Given the description of an element on the screen output the (x, y) to click on. 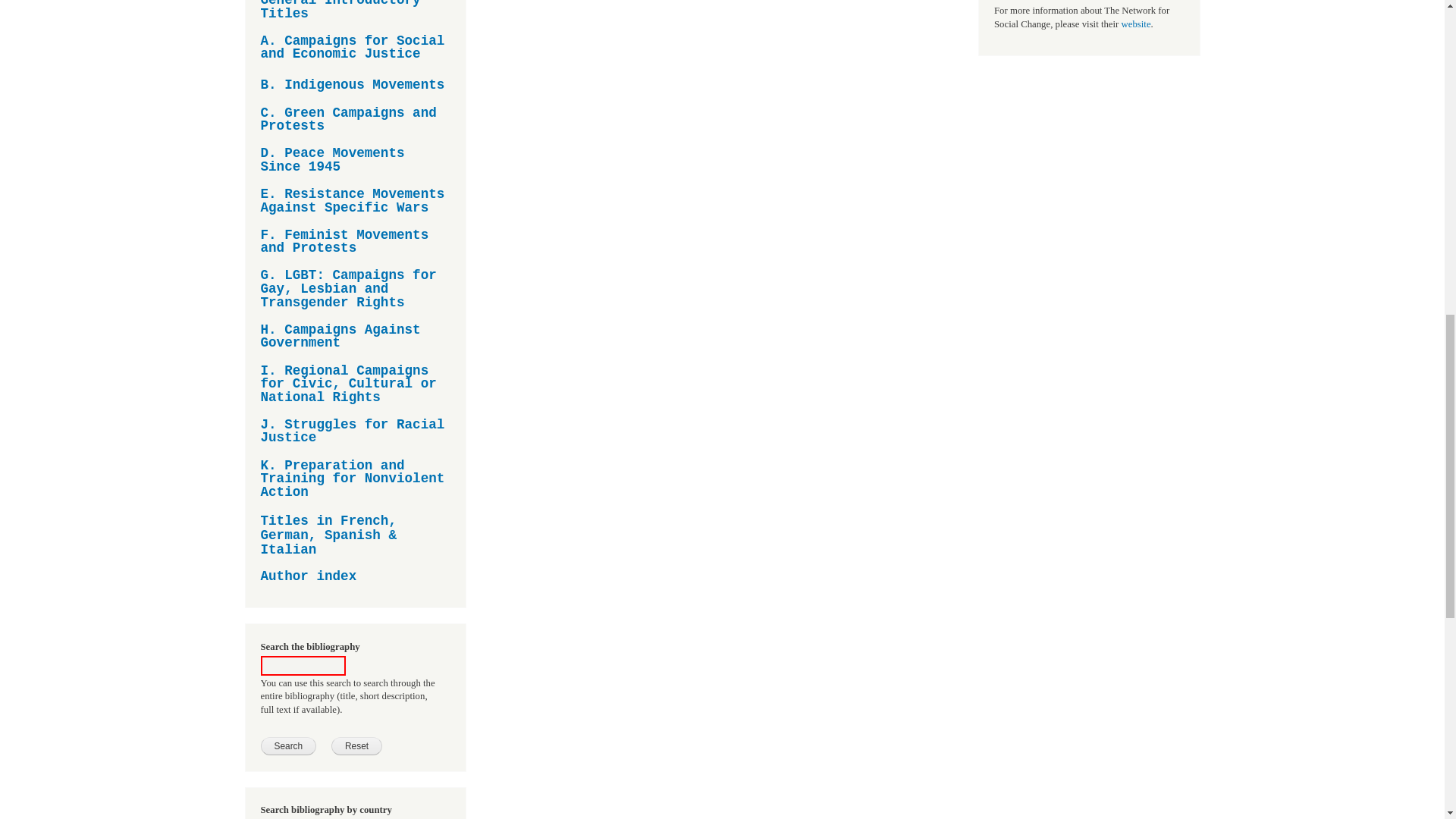
Reset (356, 746)
Enter the terms you wish to search for. (303, 665)
Search (288, 746)
